Given the description of an element on the screen output the (x, y) to click on. 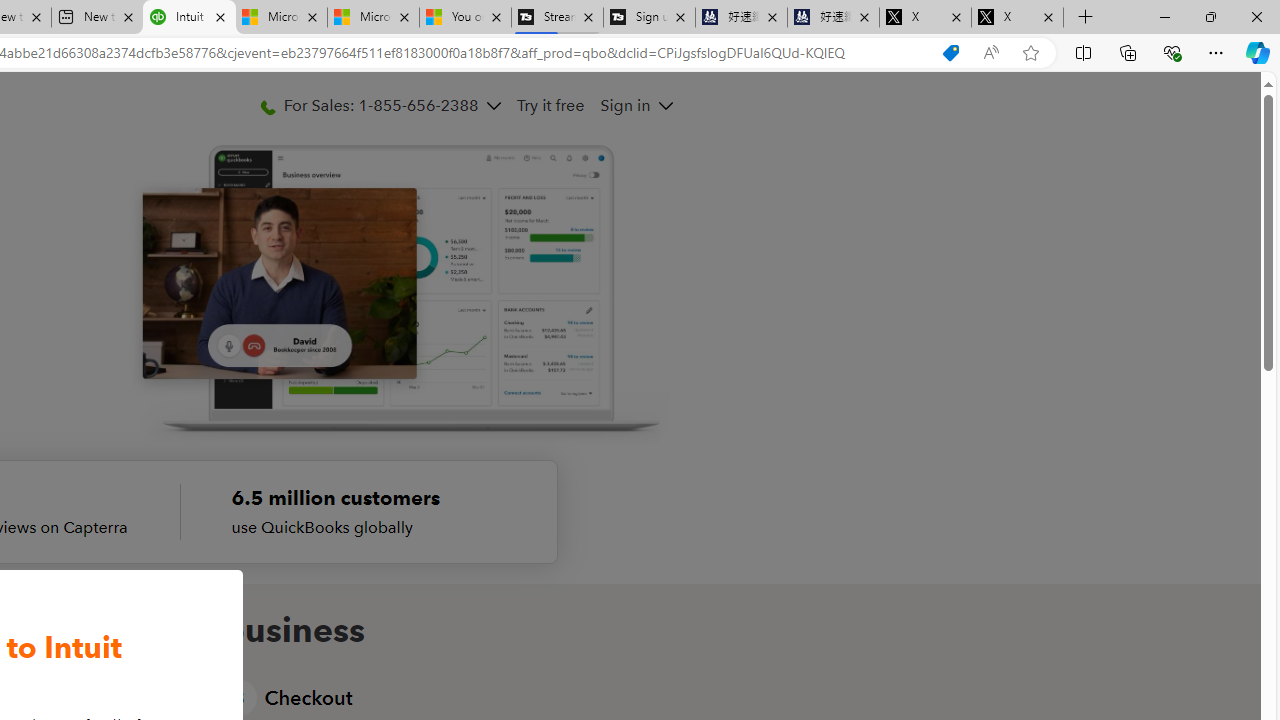
Streaming Coverage | T3 (557, 17)
For Sales: 1-855-656-2388 (380, 105)
PhoneIcon (267, 107)
Microsoft Start Sports (280, 17)
X (1017, 17)
Shopping in Microsoft Edge (950, 53)
For Sales: 1-855-656-2388 (379, 105)
